Given the description of an element on the screen output the (x, y) to click on. 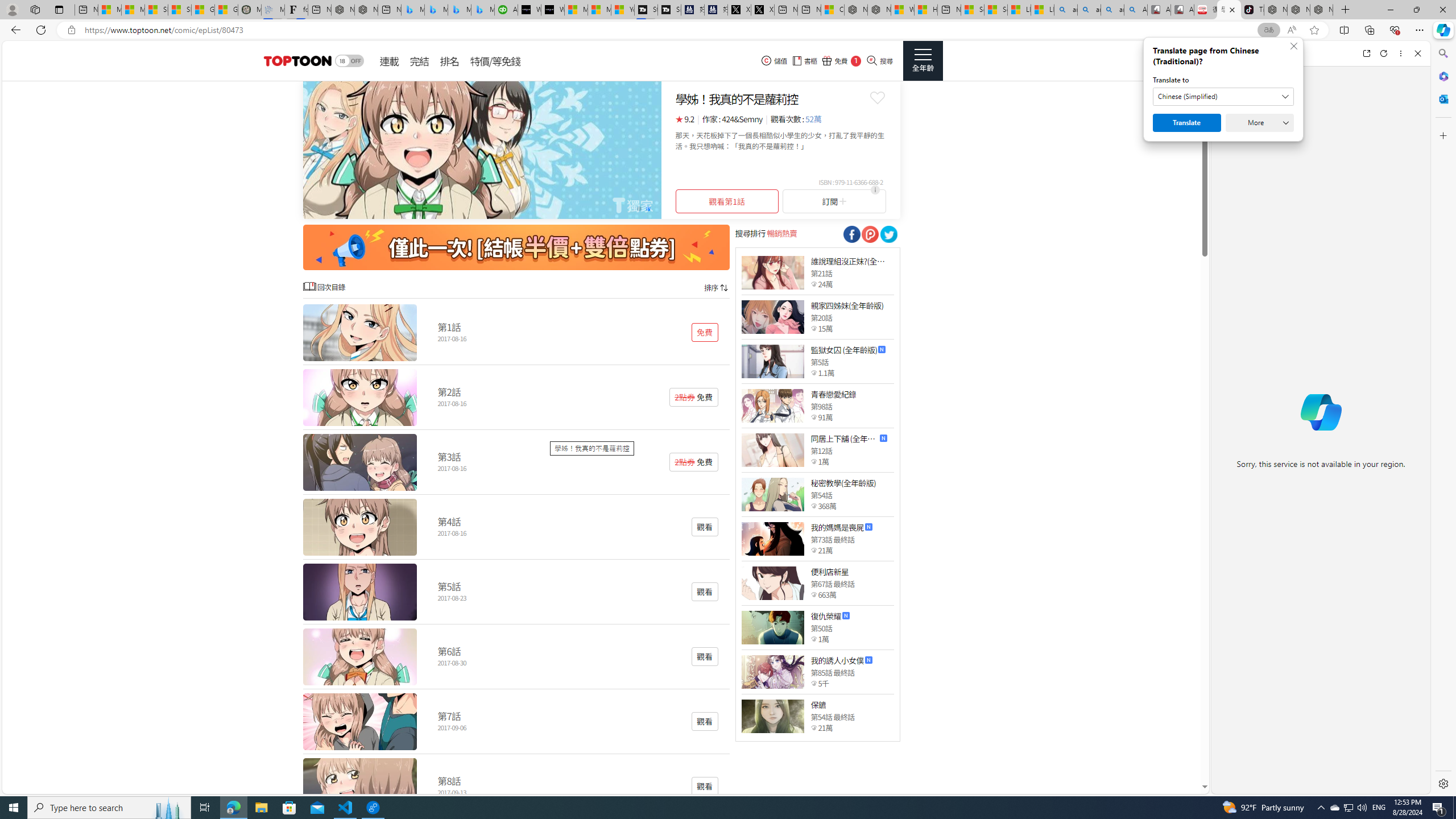
Translate to (1223, 96)
Show translate options (1268, 29)
Amazon Echo Robot - Search Images (1135, 9)
